Given the description of an element on the screen output the (x, y) to click on. 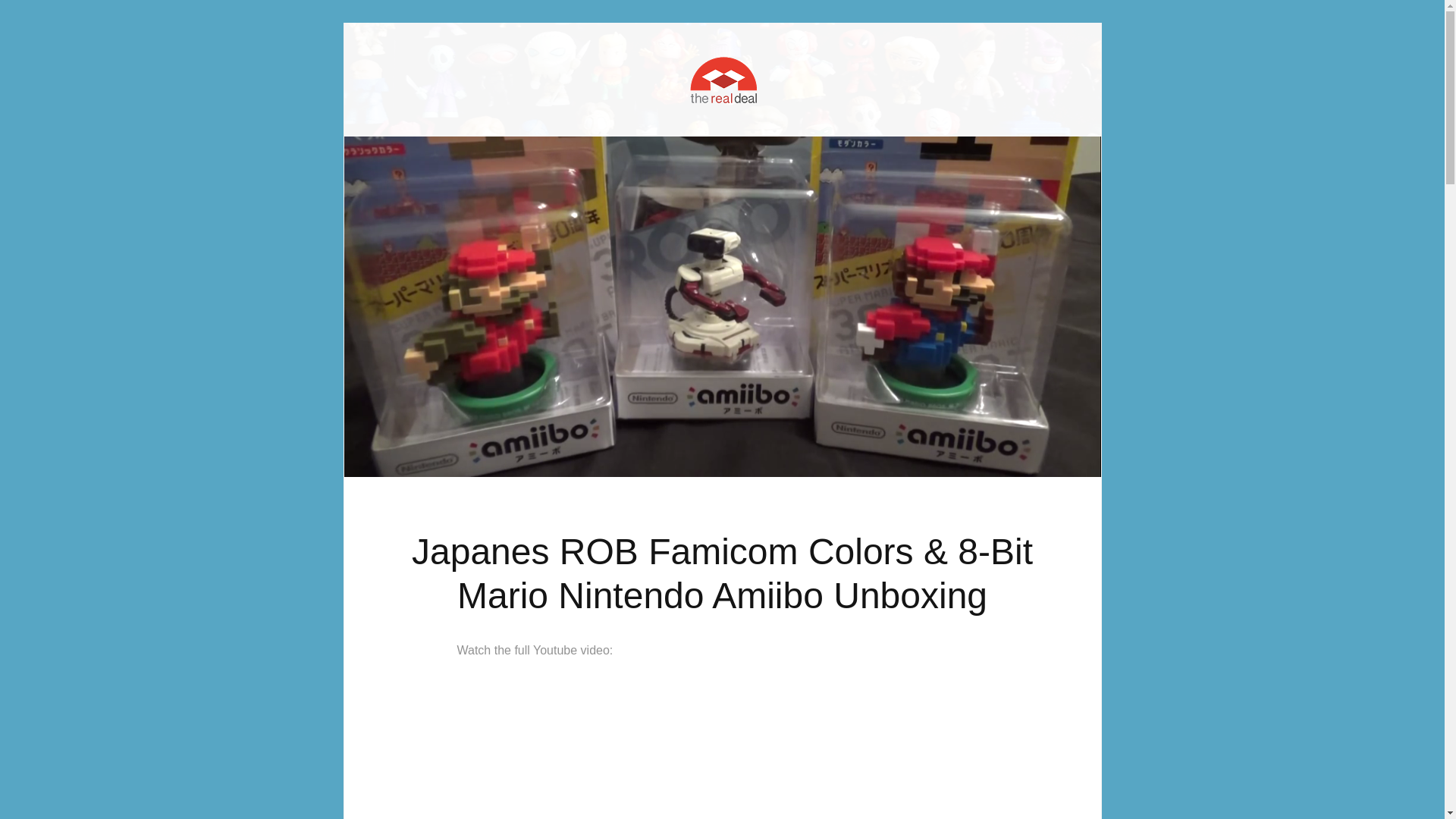
The Real Deal (721, 44)
Skip to content (762, 77)
Skip to content (762, 77)
